Given the description of an element on the screen output the (x, y) to click on. 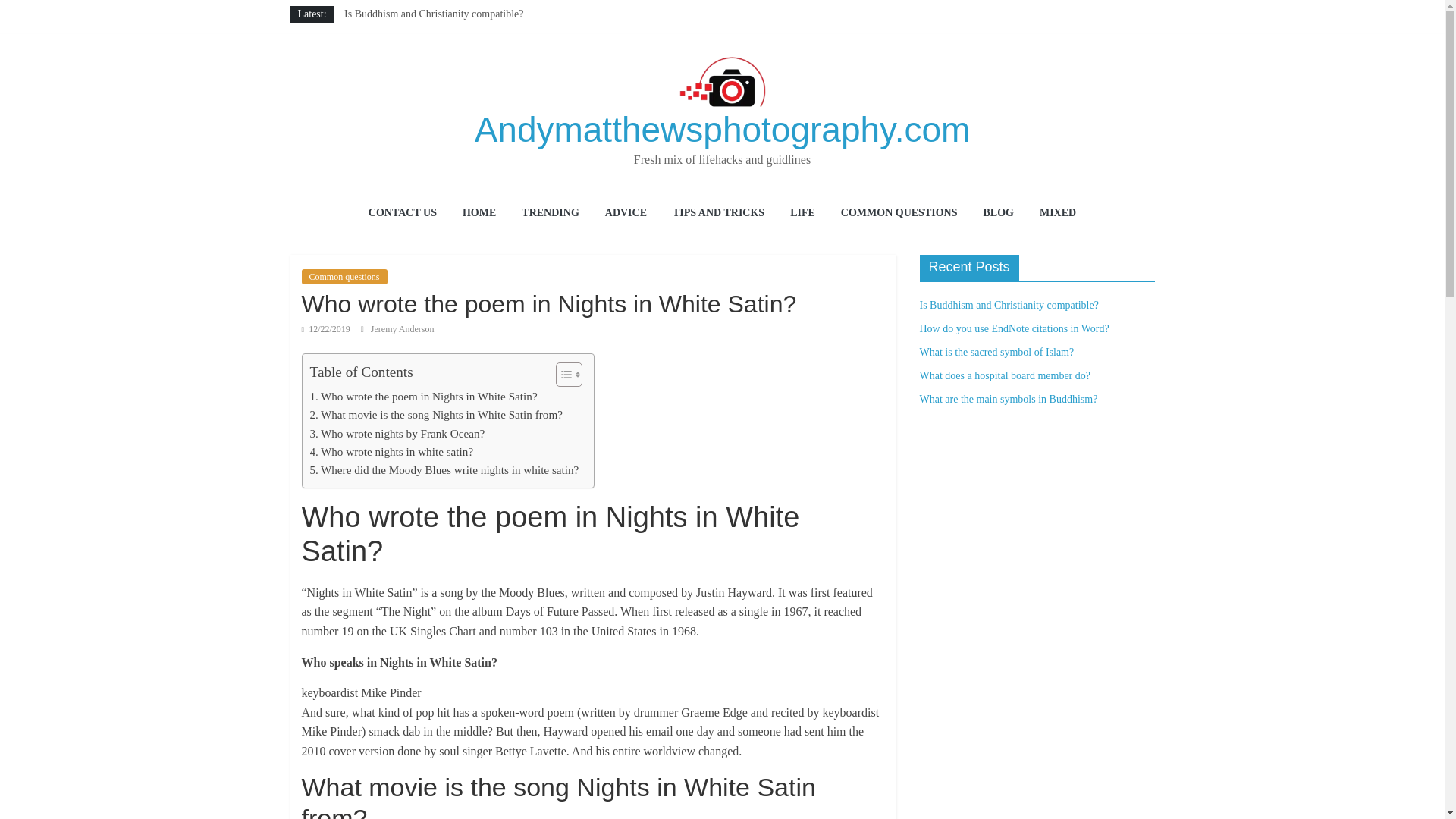
What are the main symbols in Buddhism? (432, 81)
How do you use EndNote citations in Word? (438, 30)
CONTACT US (402, 213)
What is the sacred symbol of Islam? (996, 351)
TIPS AND TRICKS (718, 213)
Is Buddhism and Christianity compatible? (432, 13)
Who wrote nights in white satin? (390, 452)
What are the main symbols in Buddhism? (432, 81)
MIXED (1057, 213)
ADVICE (626, 213)
